Given the description of an element on the screen output the (x, y) to click on. 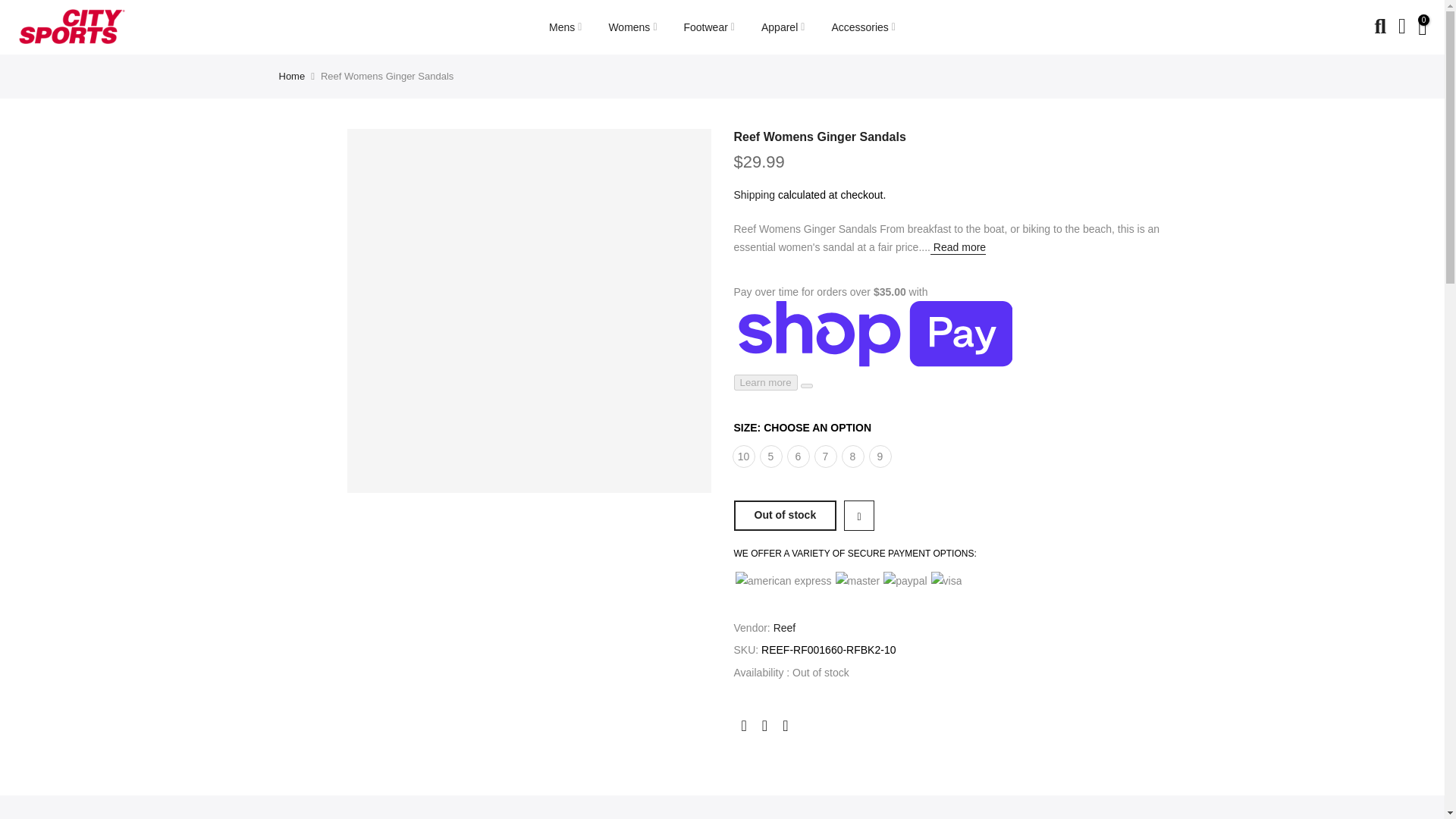
Reef (784, 628)
Mens (565, 27)
